Given the description of an element on the screen output the (x, y) to click on. 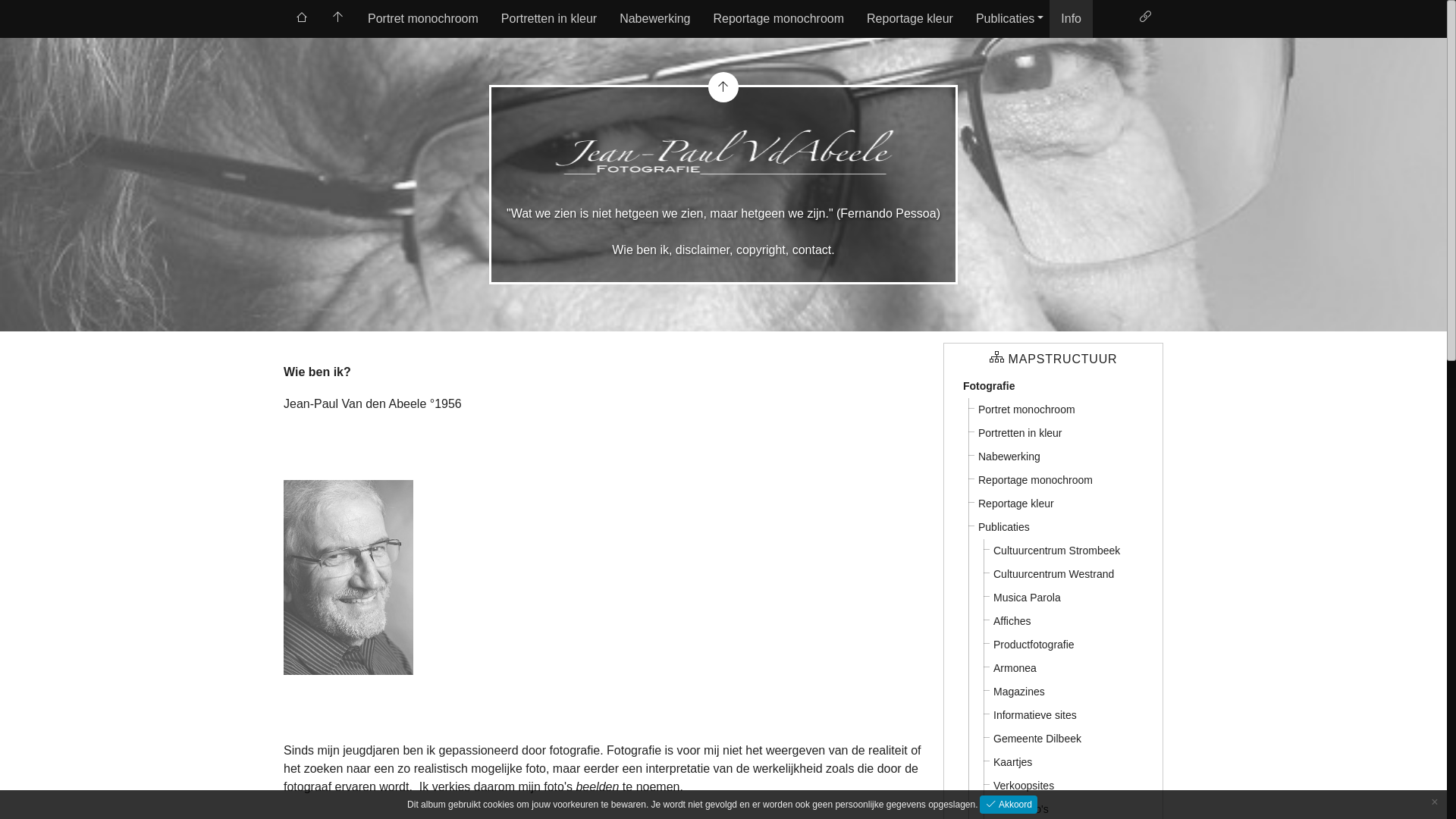
Reportage kleur Element type: text (909, 18)
Fotografie Element type: text (988, 386)
Publicaties Element type: text (1006, 18)
Info Element type: text (1070, 18)
Musica Parola Element type: text (1026, 597)
Gemeente Dilbeek Element type: text (1037, 738)
Cultuurcentrum Westrand Element type: text (1053, 574)
Portret monochroom Element type: text (422, 18)
Akkoord Element type: text (1008, 804)
Verkoopsites Element type: text (1023, 785)
Nabewerking Element type: text (1009, 456)
Publicaties Element type: text (1003, 527)
Reportage monochroom Element type: text (779, 18)
Kaartjes Element type: text (1012, 762)
Reportage kleur Element type: text (1015, 503)
Affiches Element type: text (1012, 621)
Portretten in kleur Element type: text (548, 18)
Magazines Element type: text (1018, 691)
Portretten in kleur Element type: text (1020, 433)
Nabewerking Element type: text (654, 18)
Productfotografie Element type: text (1033, 644)
Beginpagina Element type: hover (338, 18)
Cultuurcentrum Strombeek Element type: text (1056, 550)
Armonea Element type: text (1014, 668)
Portret monochroom Element type: text (1026, 409)
Reportage monochroom Element type: text (1035, 480)
Informatieve sites Element type: text (1034, 715)
